Given the description of an element on the screen output the (x, y) to click on. 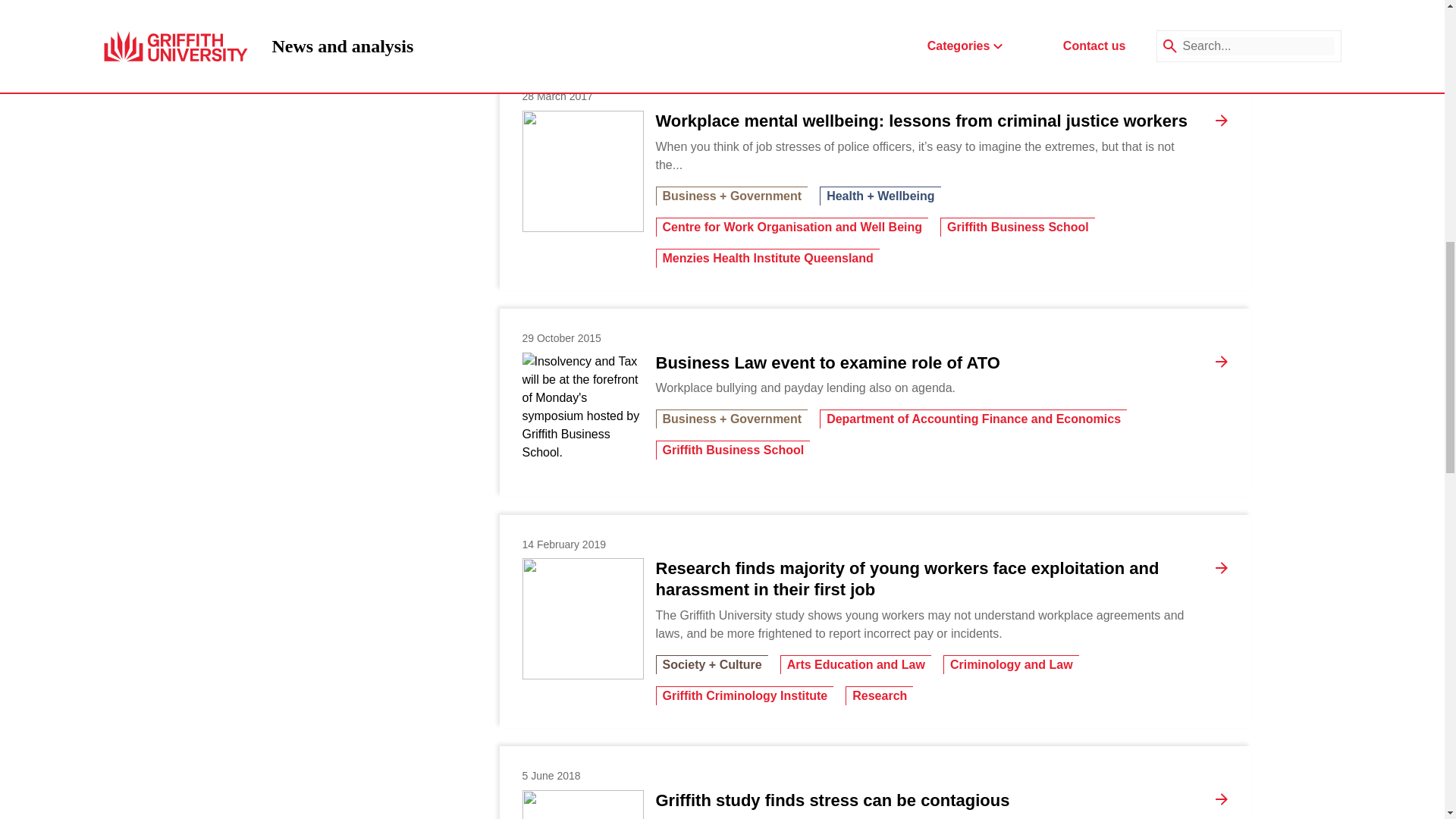
Griffith study finds stress can be contagious (582, 804)
Business Law event to examine role of ATO (582, 413)
Business Law event to examine role of ATO (826, 362)
Griffith study finds stress can be contagious (832, 800)
